Given the description of an element on the screen output the (x, y) to click on. 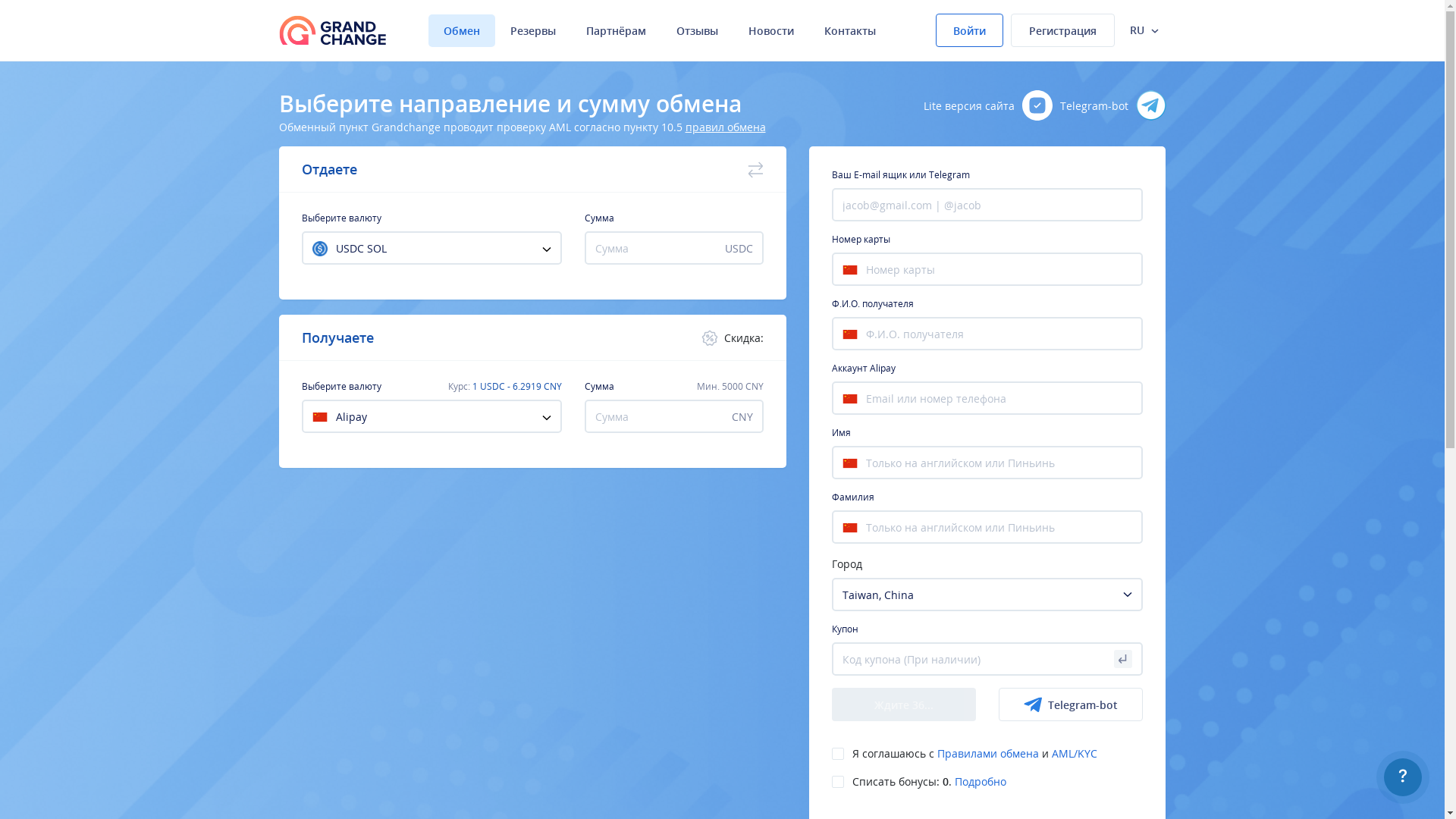
AML/KYC Element type: text (1074, 753)
RU Element type: text (1144, 29)
Telegram-bot Element type: text (1070, 704)
Telegram-bot Element type: text (1113, 105)
